Given the description of an element on the screen output the (x, y) to click on. 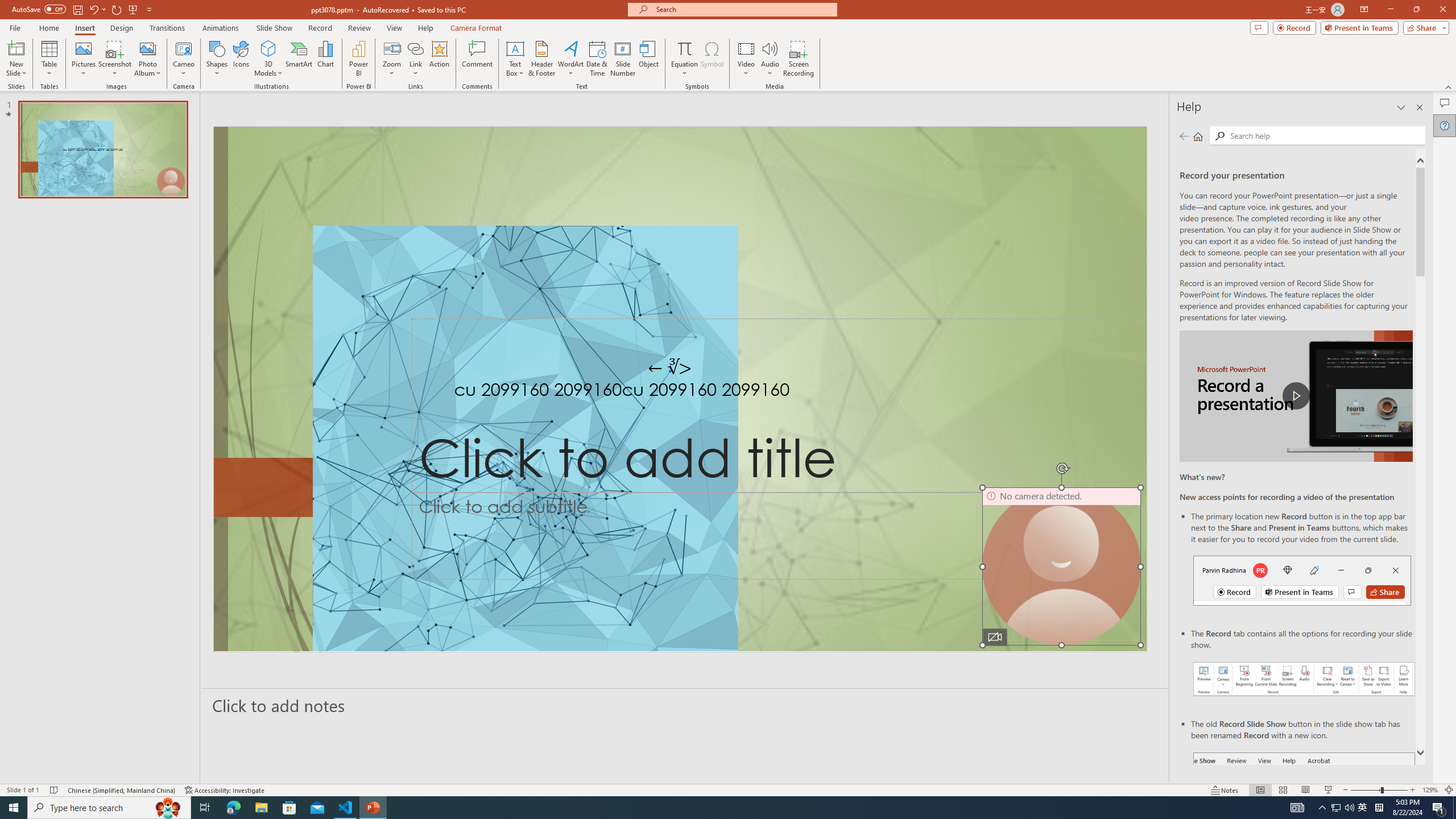
Screenshot (114, 58)
Equation (683, 58)
Equation (683, 48)
WordArt (570, 58)
Photo Album... (147, 58)
Comment (476, 58)
Power BI (358, 58)
